Given the description of an element on the screen output the (x, y) to click on. 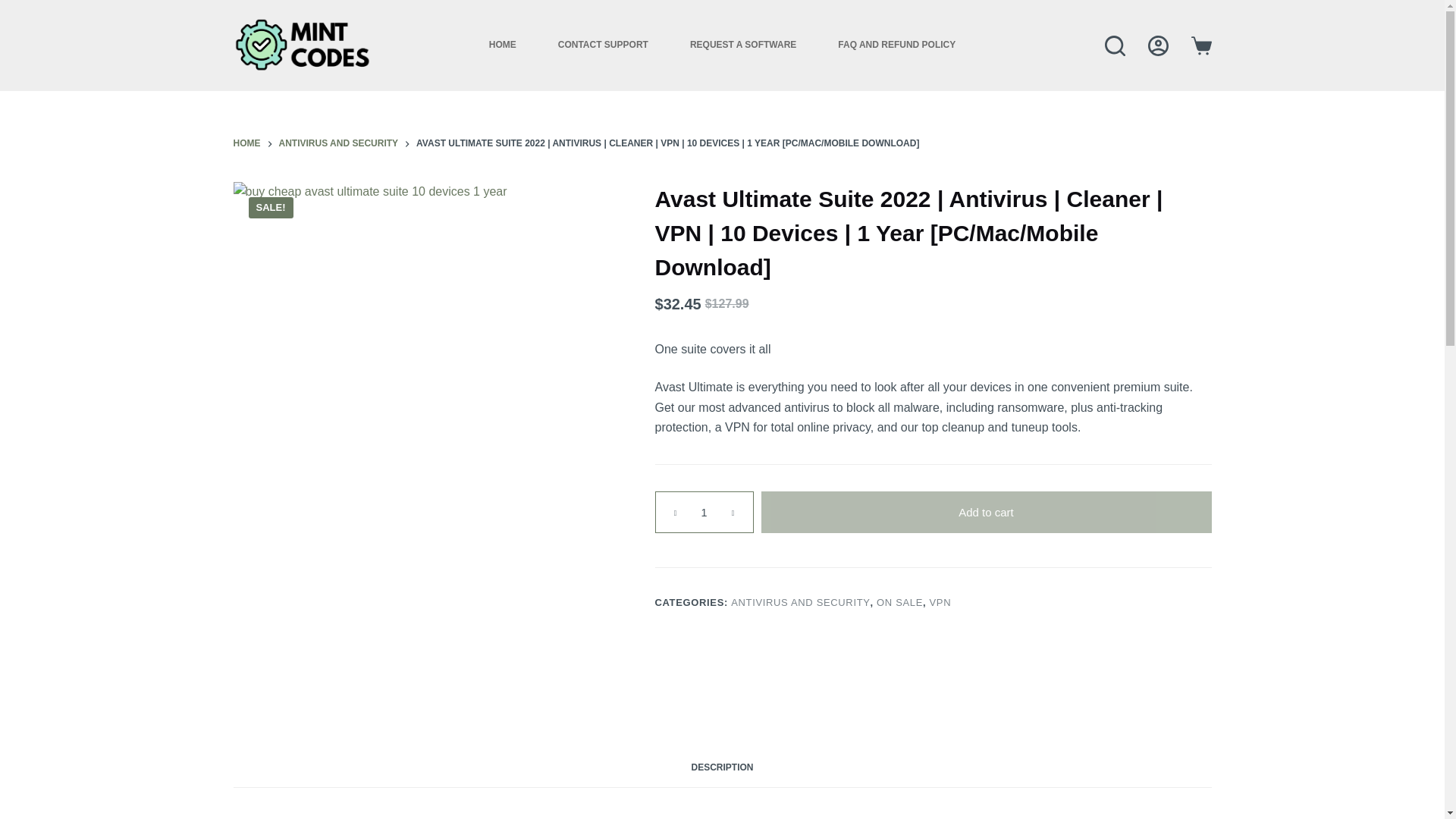
Add to cart (986, 512)
FAQ AND REFUND POLICY (896, 45)
REQUEST A SOFTWARE (742, 45)
Qty (704, 512)
ON SALE (899, 602)
ANTIVIRUS AND SECURITY (338, 143)
ANTIVIRUS AND SECURITY (799, 602)
VPN (941, 602)
DESCRIPTION (722, 768)
HOME (246, 143)
